Given the description of an element on the screen output the (x, y) to click on. 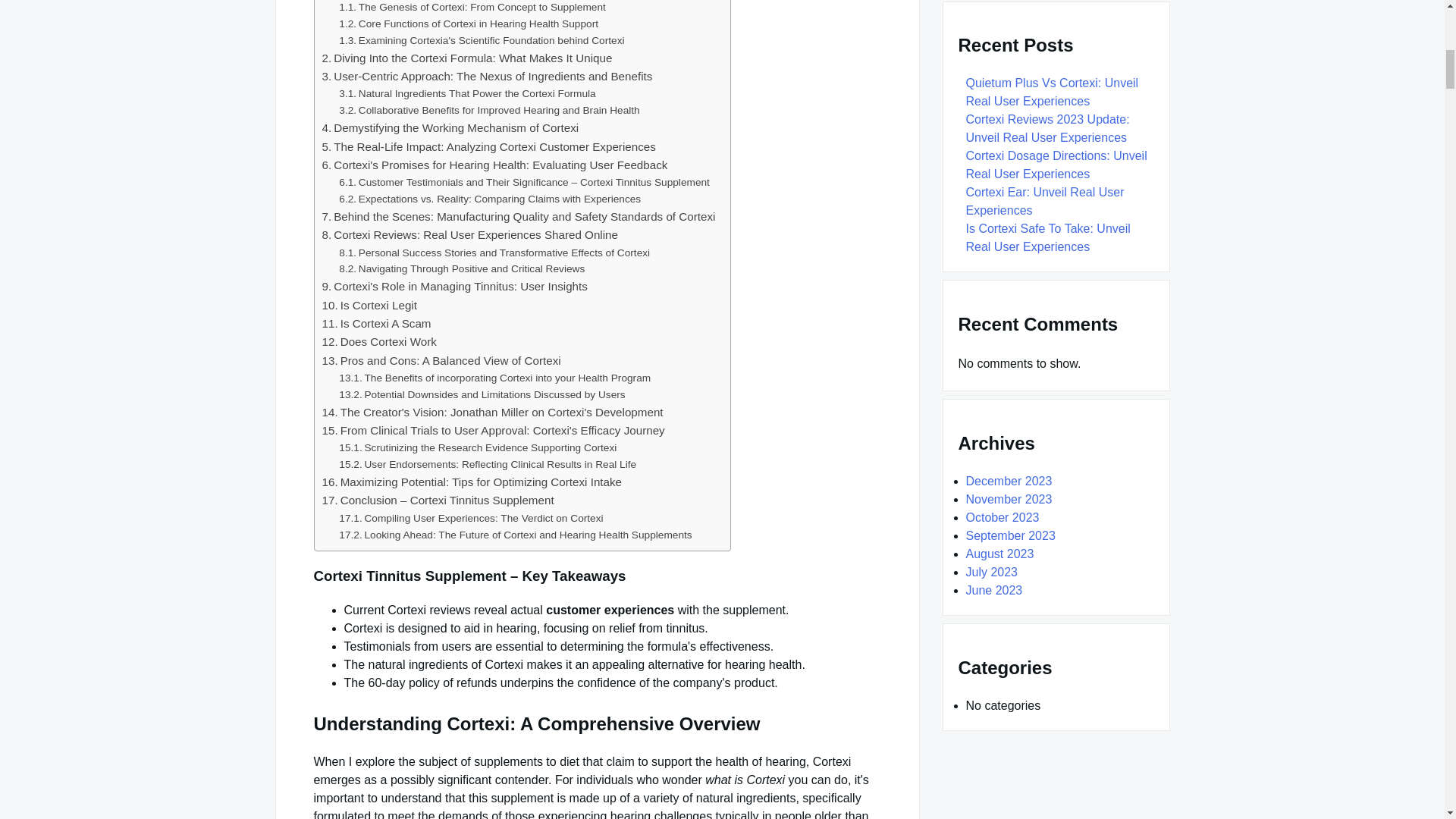
Collaborative Benefits for Improved Hearing and Brain Health (489, 110)
Cortexi Reviews: Real User Experiences Shared Online (469, 235)
Diving Into the Cortexi Formula: What Makes It Unique (466, 58)
Pros and Cons: A Balanced View of Cortexi (440, 361)
Examining Cortexia's Scientific Foundation behind Cortexi (481, 40)
Core Functions of Cortexi in Hearing Health Support (468, 23)
Natural Ingredients That Power the Cortexi Formula (467, 93)
Demystifying the Working Mechanism of Cortexi (449, 127)
Potential Downsides and Limitations Discussed by Users (481, 394)
The Genesis of Cortexi: From Concept to Supplement (472, 7)
Does Cortexi Work (378, 341)
